Given the description of an element on the screen output the (x, y) to click on. 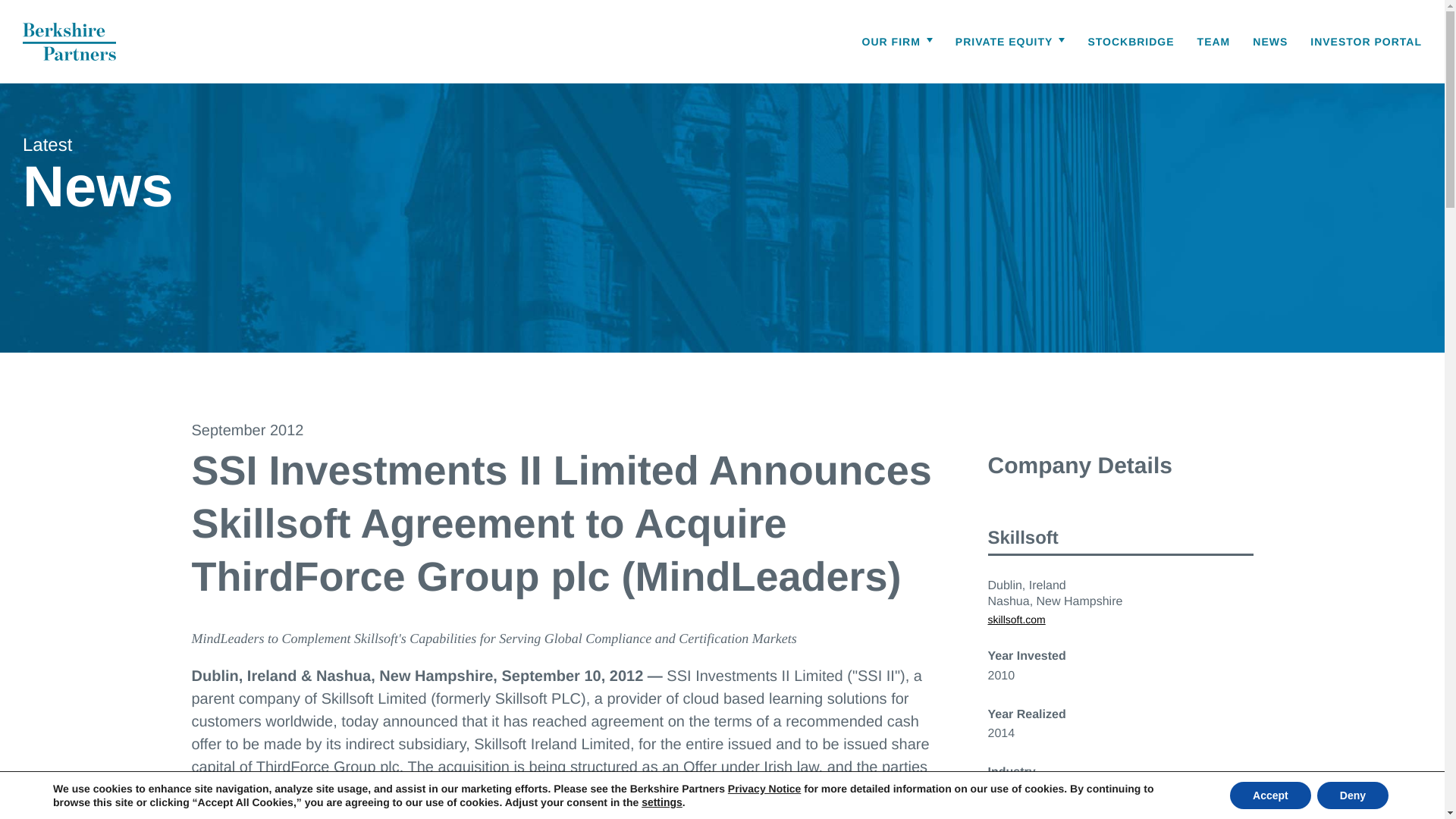
Investor Portal (1366, 41)
Stockbridge (1130, 41)
Berkshire Partners (69, 41)
Berkshire Partners (69, 41)
STOCKBRIDGE (1130, 41)
Private Equity (1010, 41)
skillsoft.com (1119, 619)
PRIVATE EQUITY (1010, 41)
INVESTOR PORTAL (1366, 41)
Berkshire Partners (69, 41)
